Given the description of an element on the screen output the (x, y) to click on. 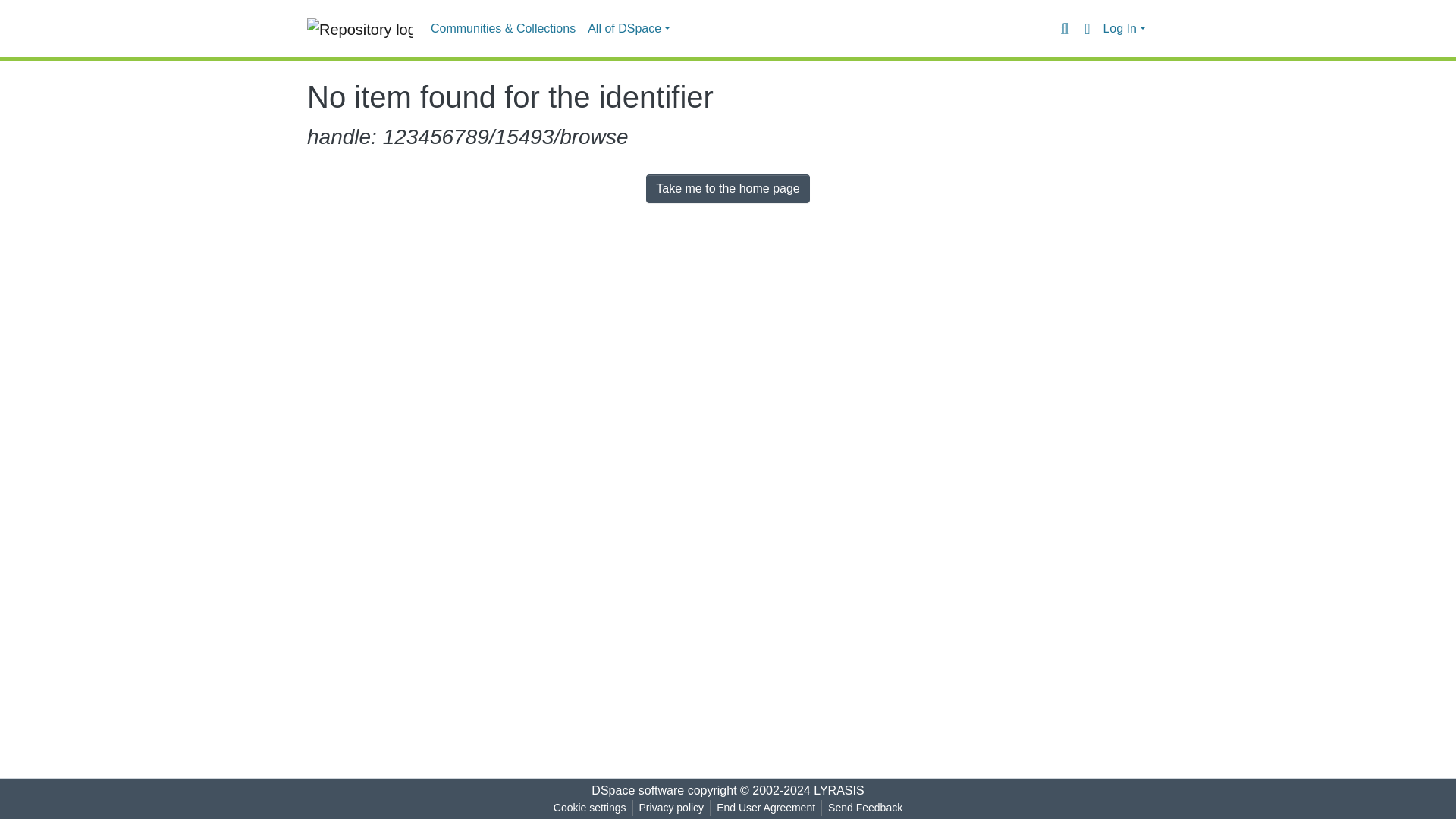
Language switch (1086, 28)
LYRASIS (838, 789)
Log In (1123, 28)
Cookie settings (589, 807)
All of DSpace (628, 28)
Search (1064, 28)
Send Feedback (865, 807)
Privacy policy (671, 807)
End User Agreement (765, 807)
Take me to the home page (727, 188)
DSpace software (637, 789)
